Given the description of an element on the screen output the (x, y) to click on. 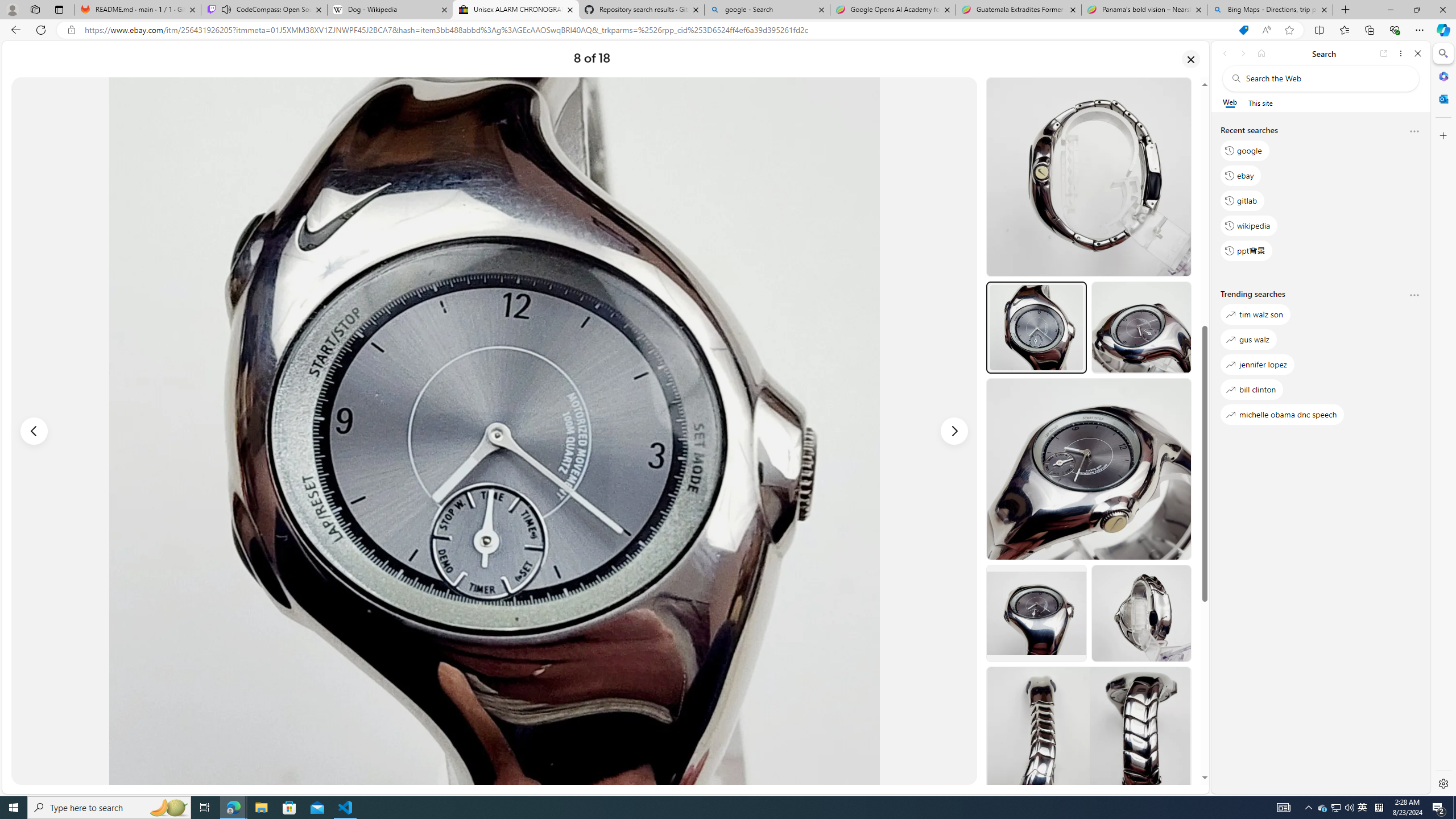
gus walz (1248, 339)
Close image gallery dialog (1190, 58)
Outlook (1442, 98)
